Given the description of an element on the screen output the (x, y) to click on. 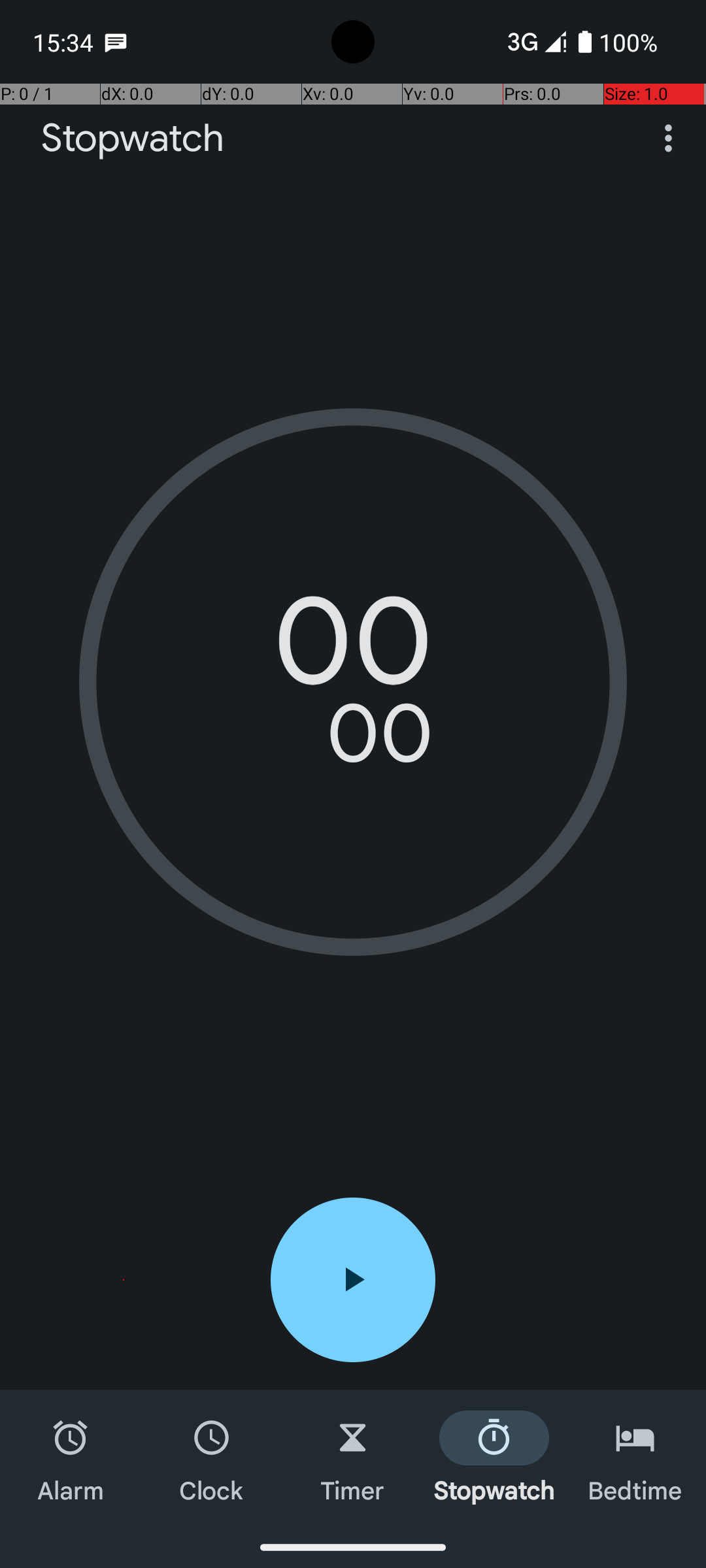
Start Element type: android.widget.Button (352, 1279)
SMS Messenger notification: Matteo Ibrahim Element type: android.widget.ImageView (115, 41)
